Given the description of an element on the screen output the (x, y) to click on. 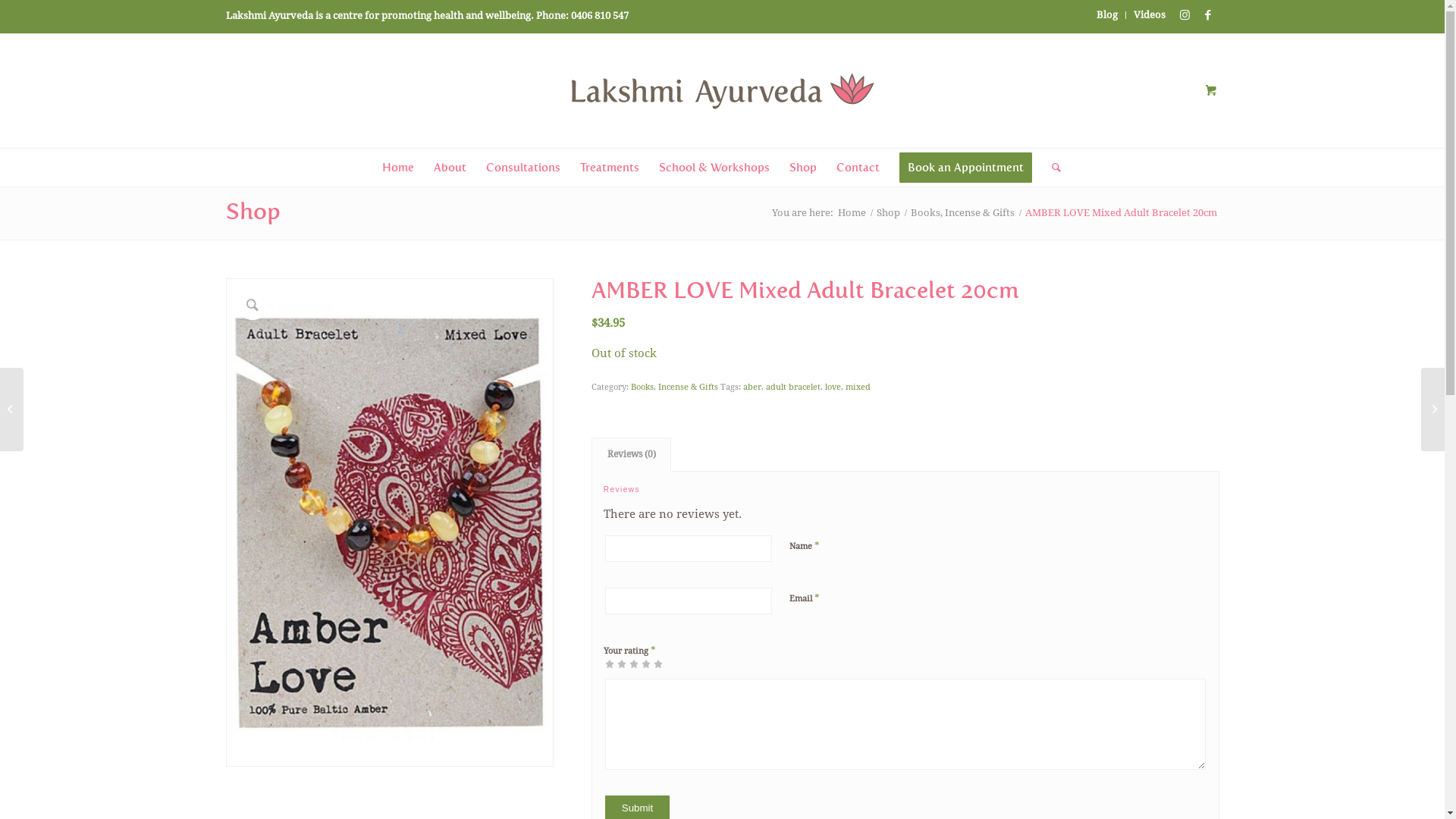
Contact Element type: text (857, 167)
Books, Incense & Gifts Element type: text (962, 211)
amber-love-mixed-love-baltic-a Element type: hover (389, 522)
Reviews (0) Element type: text (631, 454)
1 Element type: text (609, 663)
3 Element type: text (621, 663)
love Element type: text (832, 387)
adult bracelet Element type: text (792, 387)
School & Workshops Element type: text (714, 167)
Videos Element type: text (1148, 14)
Home Element type: text (851, 211)
Books, Incense & Gifts Element type: text (674, 387)
Shop Element type: text (252, 211)
Shop Element type: text (887, 211)
Consultations Element type: text (523, 167)
Book an Appointment Element type: text (965, 167)
Blog Element type: text (1106, 14)
2 Element type: text (615, 663)
5 Element type: text (633, 663)
Instagram Element type: hover (1184, 14)
la-logo-lotus Element type: hover (722, 90)
4 Element type: text (627, 663)
mixed Element type: text (857, 387)
Treatments Element type: text (609, 167)
Shop Element type: text (802, 167)
Home Element type: text (397, 167)
Facebook Element type: hover (1207, 14)
aber Element type: text (752, 387)
About Element type: text (449, 167)
